Given the description of an element on the screen output the (x, y) to click on. 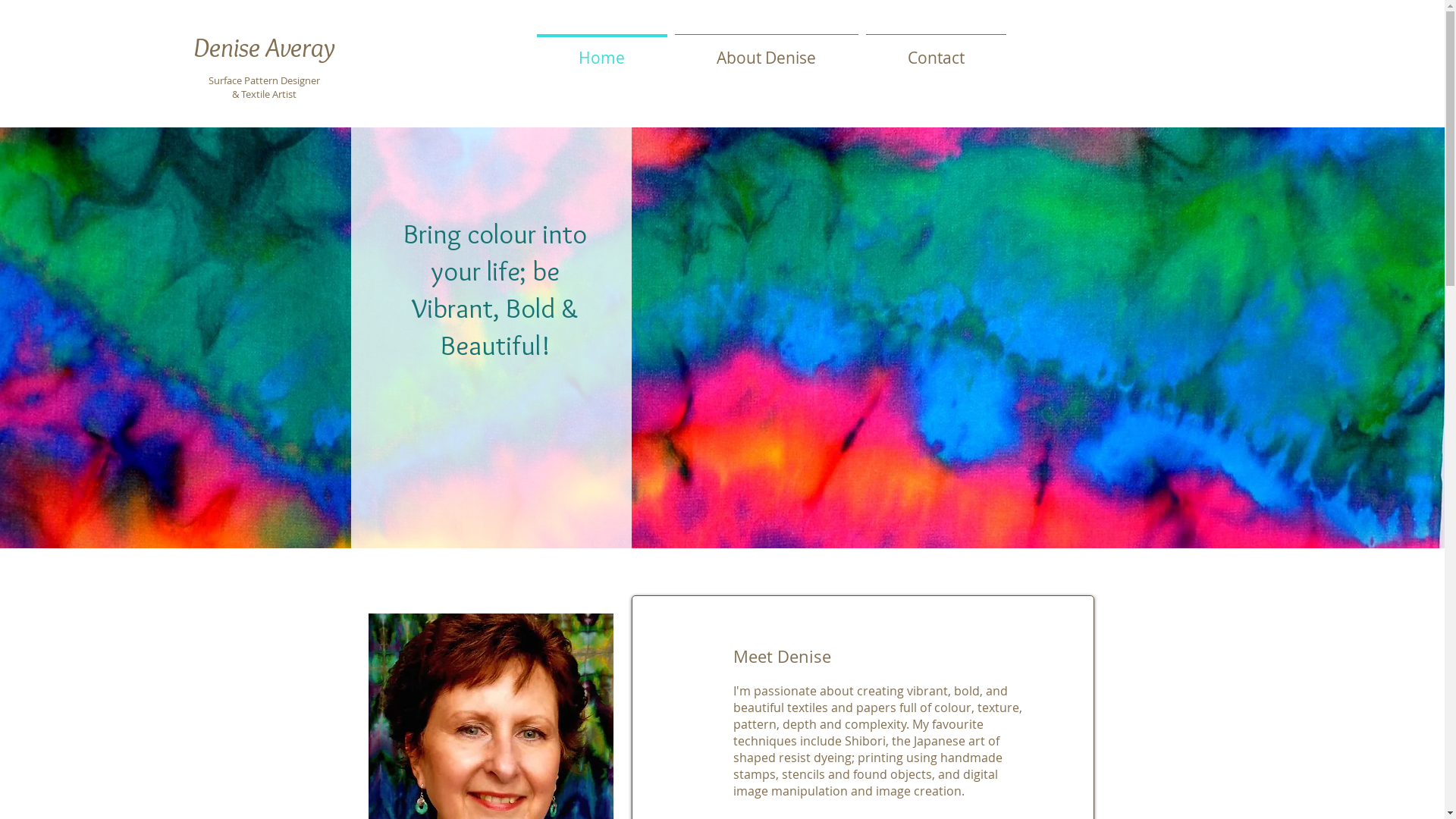
Home Element type: text (601, 50)
Surface Pattern Designer
& Textile Artist Element type: text (264, 86)
Contact Element type: text (935, 50)
Denise Averay Element type: text (264, 46)
About Denise Element type: text (765, 50)
